Given the description of an element on the screen output the (x, y) to click on. 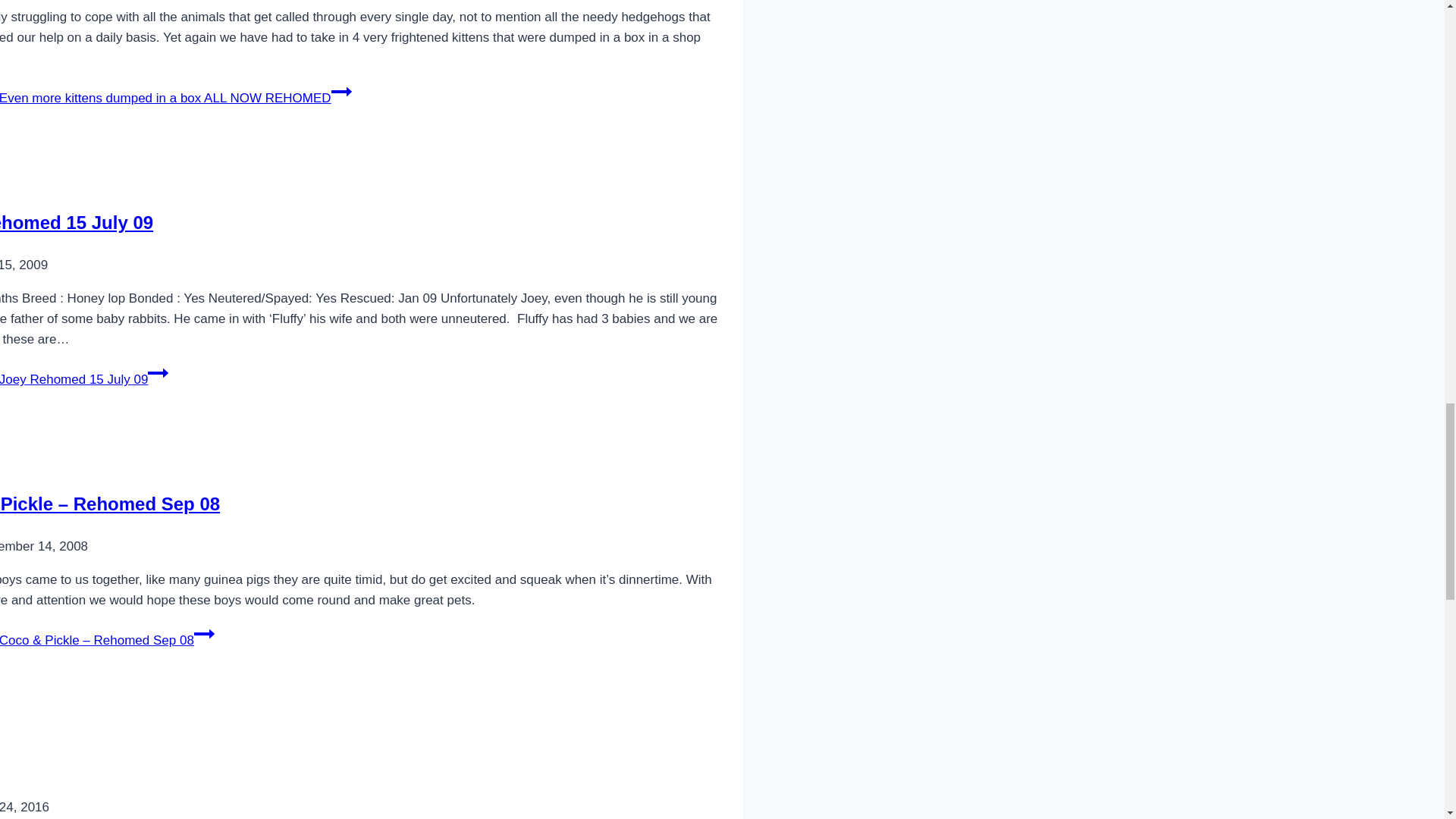
Continue (341, 91)
Continue (203, 633)
Continue (158, 373)
